Given the description of an element on the screen output the (x, y) to click on. 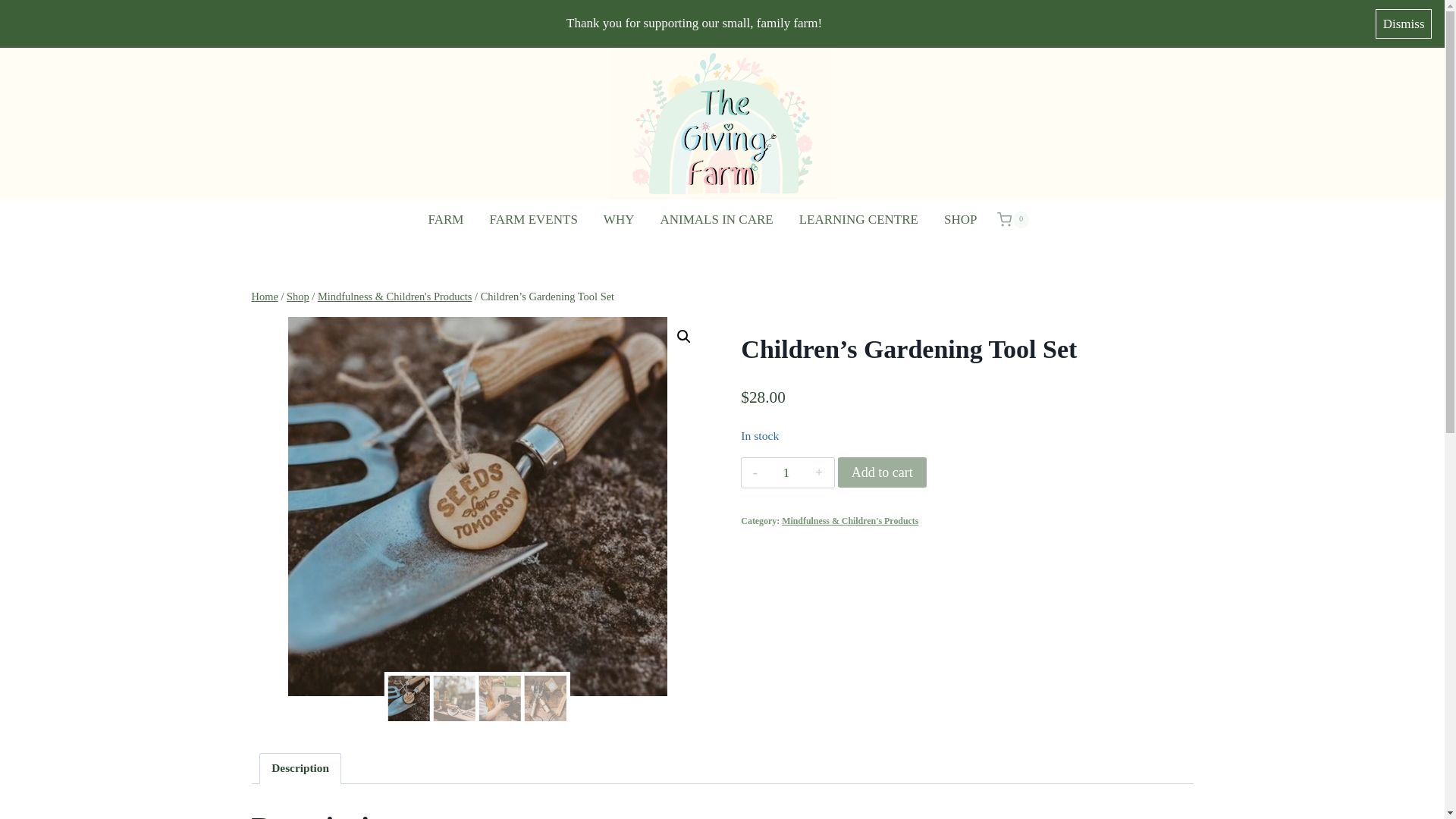
Add to cart (882, 472)
Shop (297, 296)
Dismiss (1403, 23)
ANIMALS IN CARE (716, 219)
1 (785, 472)
Description (300, 768)
WHY (619, 219)
Home (264, 296)
SHOP (960, 219)
FARM (445, 219)
